Given the description of an element on the screen output the (x, y) to click on. 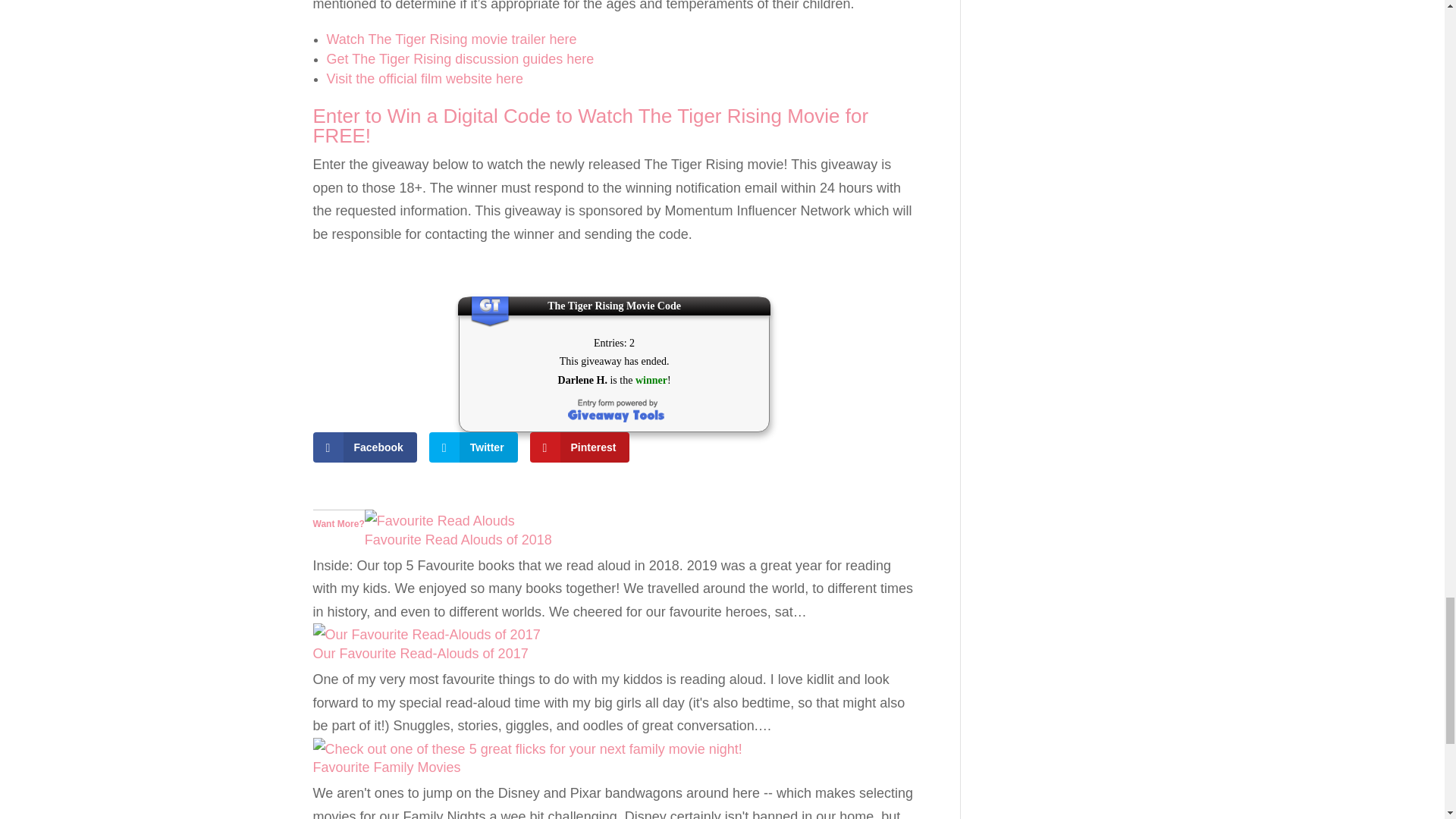
Visit the official film website here (424, 78)
Get The Tiger Rising discussion guides here (460, 58)
Favourite Read Alouds of 2018 (458, 539)
Our Favourite Read-Alouds of 2017 (426, 634)
Our Favourite Read-Alouds of 2017 (420, 653)
Watch The Tiger Rising movie trailer here (451, 38)
Favourite Family Movies (527, 749)
Favourite Read Alouds of 2018 (440, 520)
Favourite Family Movies (386, 767)
